Given the description of an element on the screen output the (x, y) to click on. 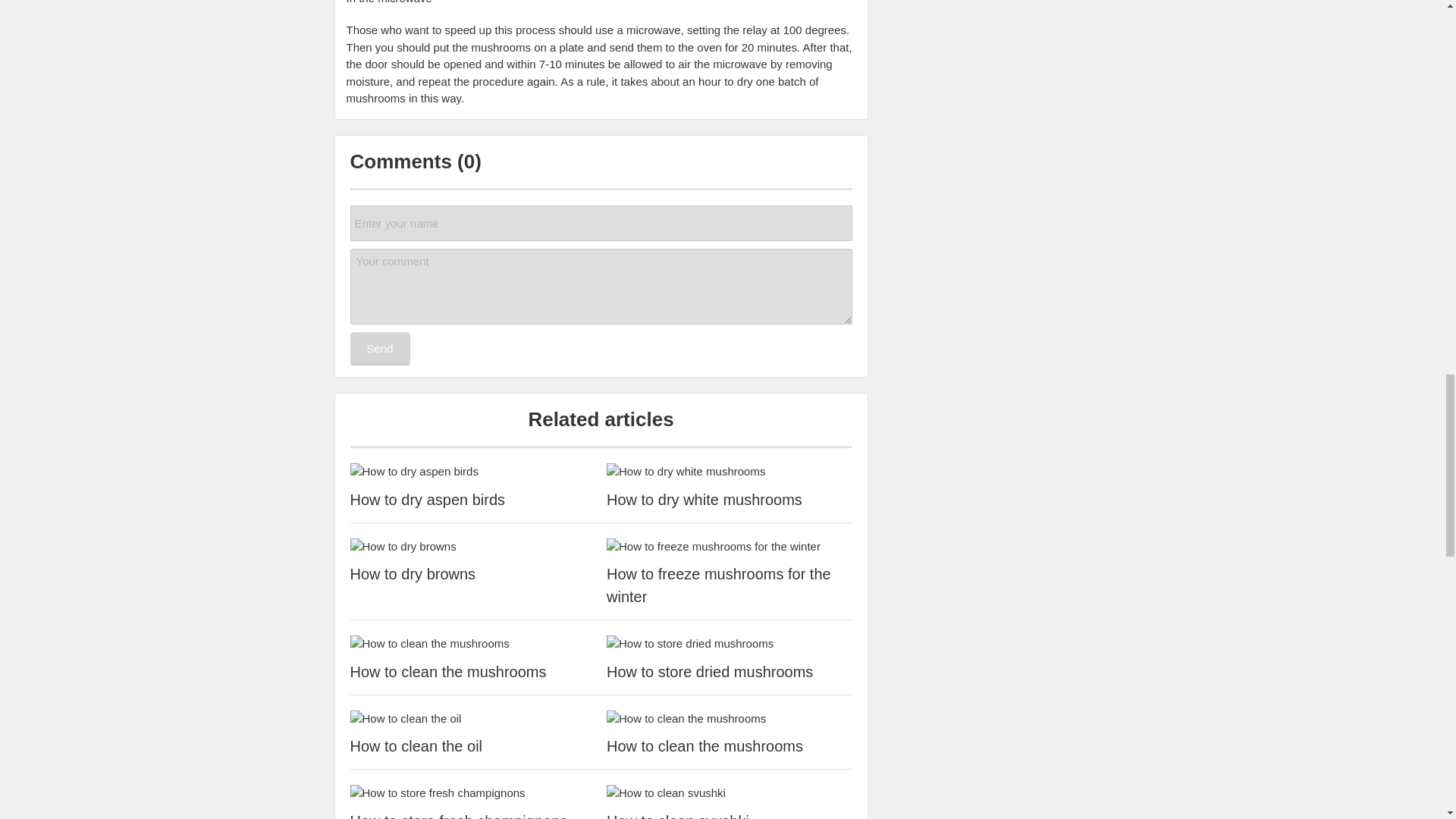
How to dry white mushrooms (729, 499)
How to store dried mushrooms (729, 643)
How to freeze mushrooms for the winter (729, 585)
How to store dried mushrooms (729, 671)
How to clean svushki (729, 793)
How to clean the oil (472, 745)
How to clean the oil (472, 719)
How to store fresh champignons (472, 793)
How to dry aspen birds (472, 471)
How to dry aspen birds (472, 499)
